Given the description of an element on the screen output the (x, y) to click on. 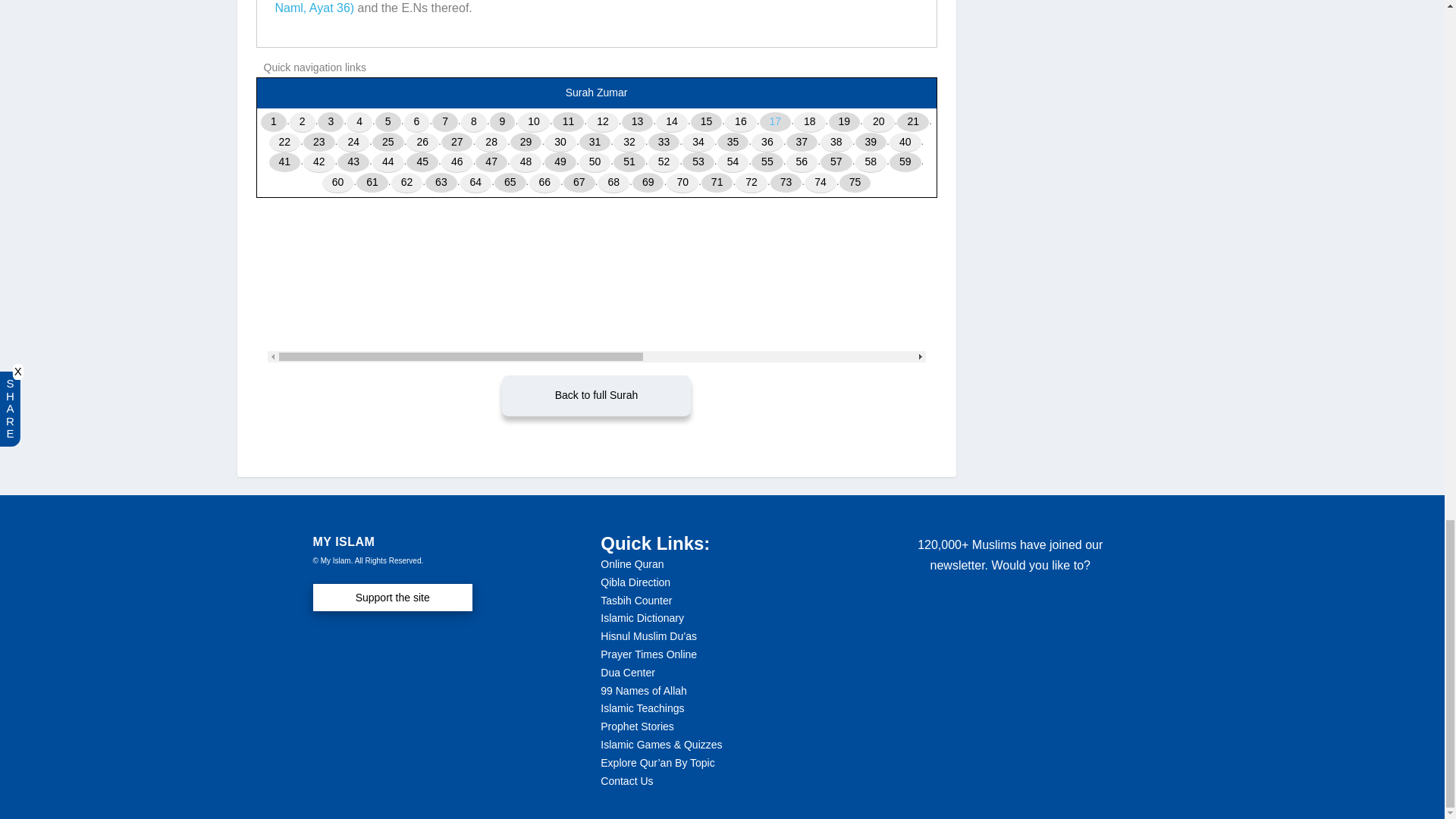
2 (302, 122)
5 (388, 122)
3 (330, 122)
8 (473, 122)
6 (416, 122)
4 (359, 122)
7 (445, 122)
1 (273, 122)
